Given the description of an element on the screen output the (x, y) to click on. 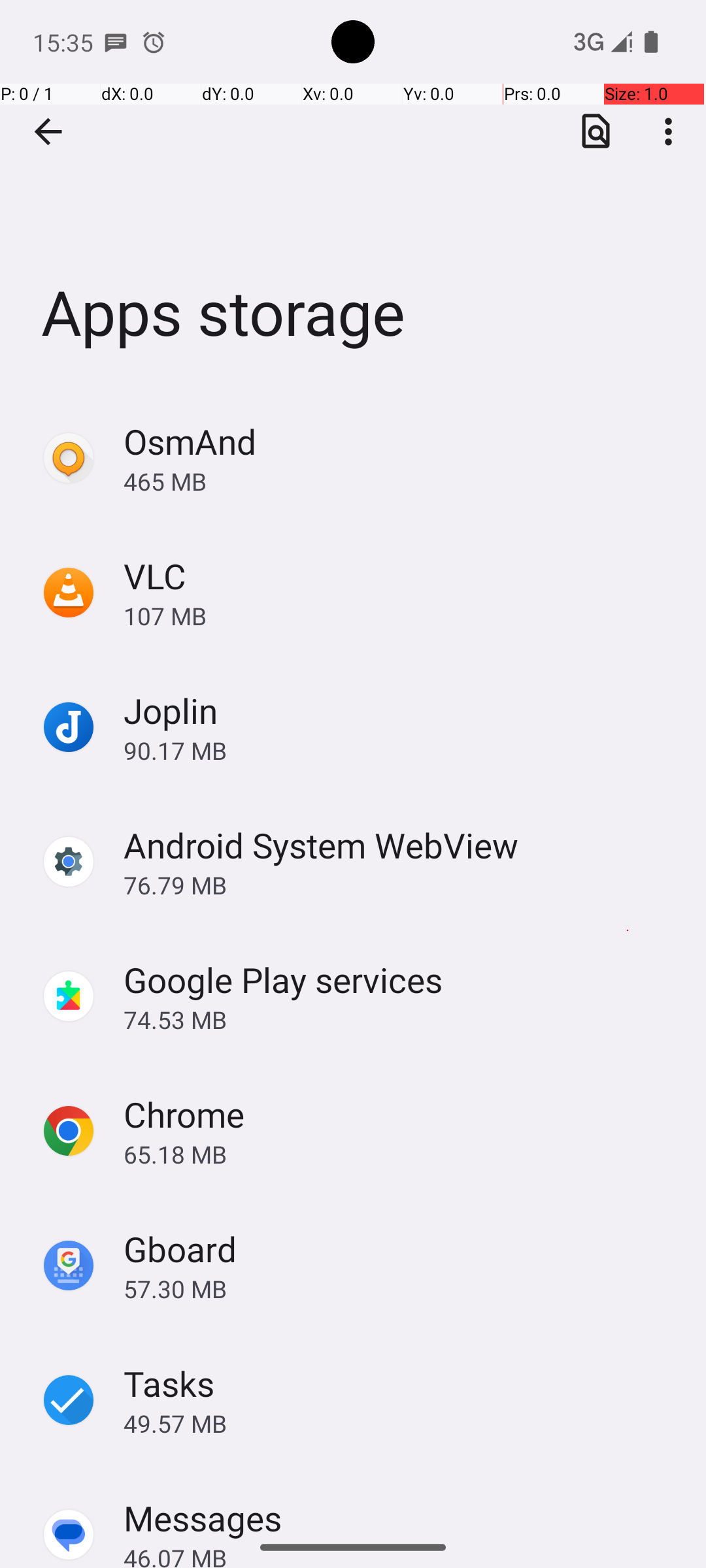
Apps storage Element type: android.widget.FrameLayout (353, 195)
465 MB Element type: android.widget.TextView (400, 480)
107 MB Element type: android.widget.TextView (400, 615)
90.17 MB Element type: android.widget.TextView (400, 750)
76.79 MB Element type: android.widget.TextView (400, 884)
74.53 MB Element type: android.widget.TextView (400, 1019)
65.18 MB Element type: android.widget.TextView (400, 1153)
Gboard Element type: android.widget.TextView (179, 1248)
57.30 MB Element type: android.widget.TextView (400, 1288)
49.57 MB Element type: android.widget.TextView (400, 1422)
